Given the description of an element on the screen output the (x, y) to click on. 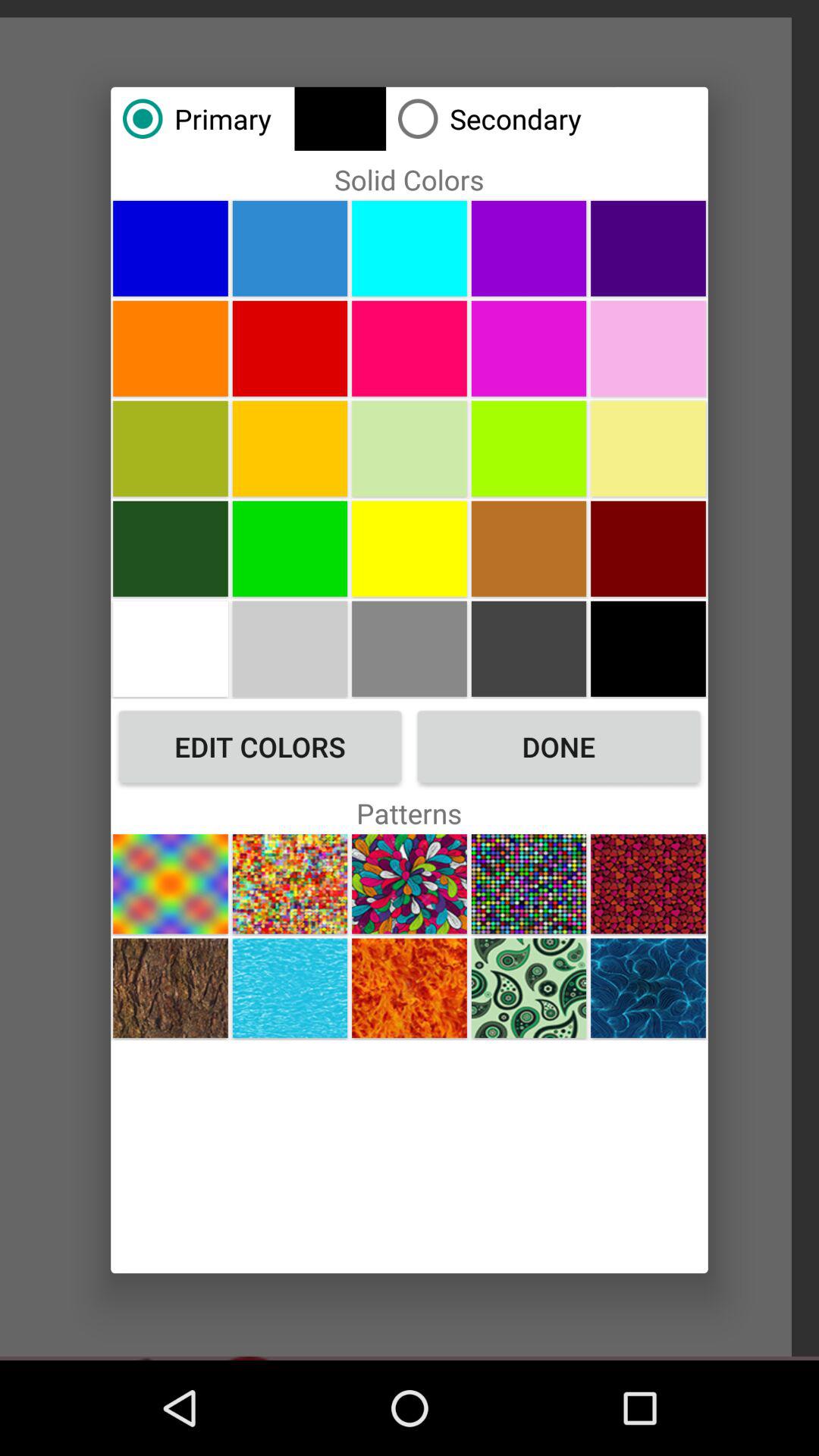
orange box flashing for selecting color (409, 348)
